Given the description of an element on the screen output the (x, y) to click on. 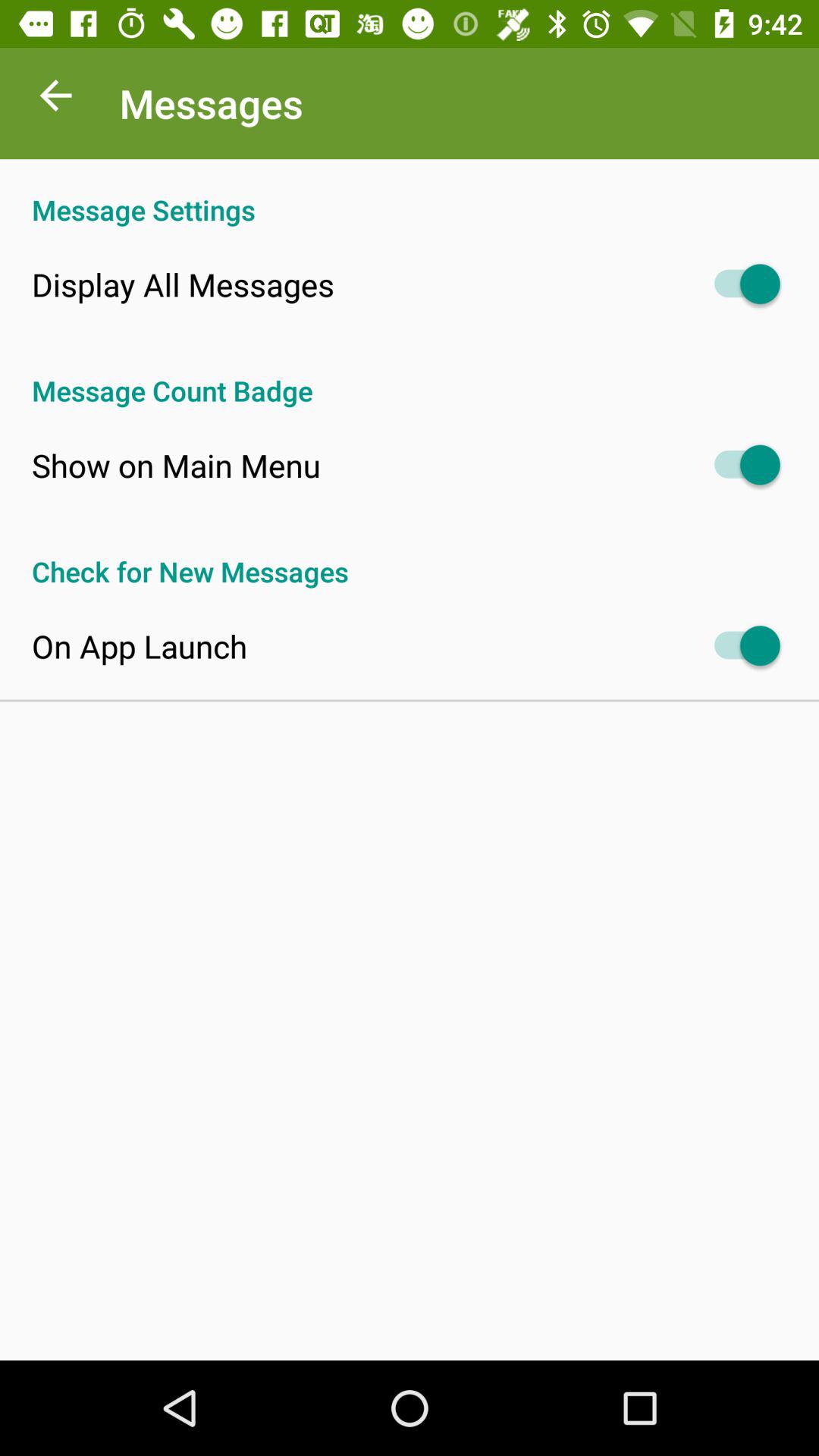
choose on app launch on the left (139, 645)
